Given the description of an element on the screen output the (x, y) to click on. 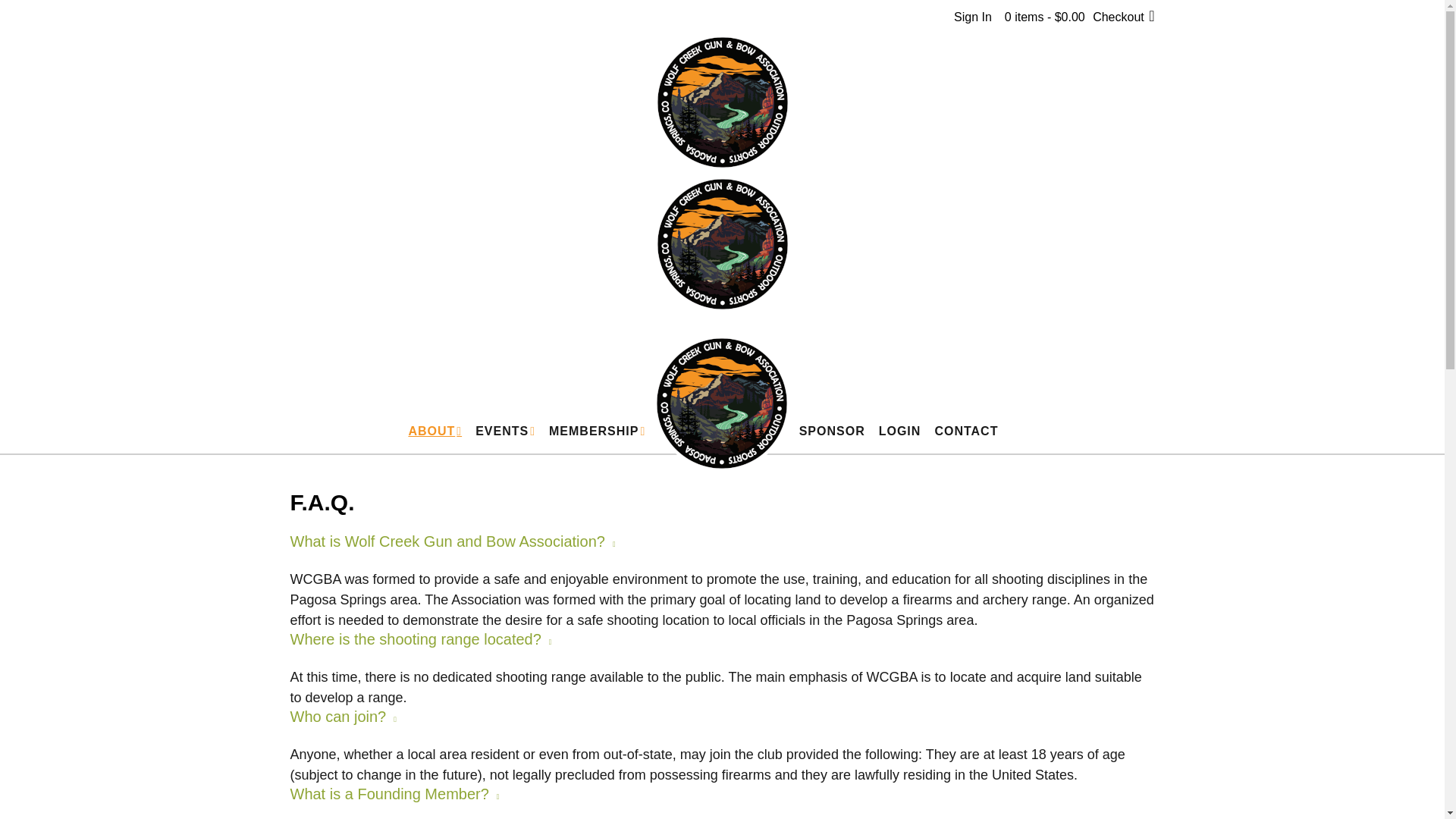
CONTACT (965, 431)
LOGIN (900, 431)
MEMBERSHIP (596, 431)
EVENTS (505, 431)
Login (972, 17)
SPONSOR (831, 431)
Sign In (972, 17)
ABOUT (434, 431)
